Given the description of an element on the screen output the (x, y) to click on. 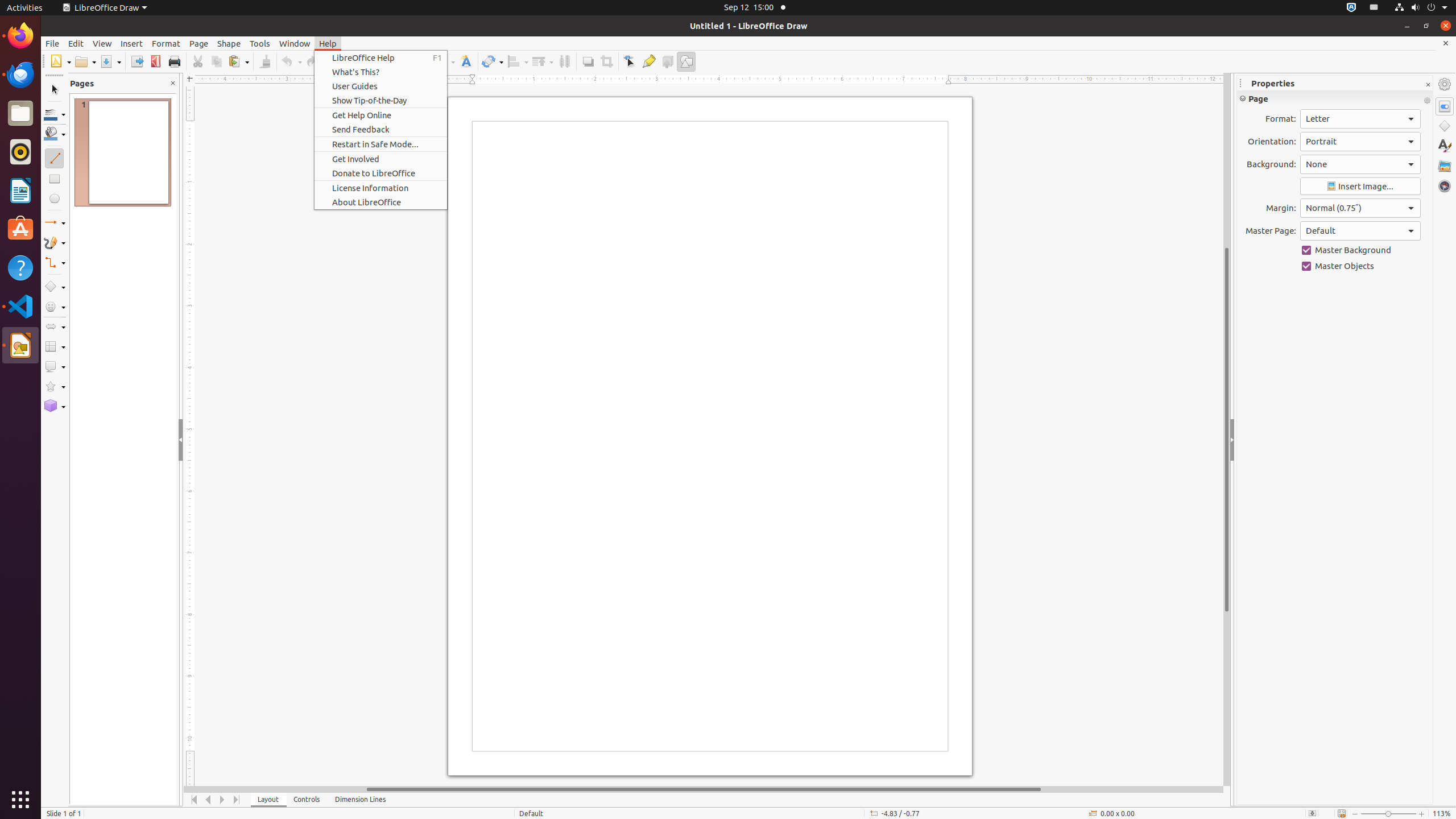
Send Feedback Element type: menu-item (380, 129)
Dimension Lines Element type: page-tab (360, 799)
LibreOffice Help Element type: menu-item (380, 57)
Move To Home Element type: push-button (194, 799)
Copy Element type: push-button (216, 61)
